Given the description of an element on the screen output the (x, y) to click on. 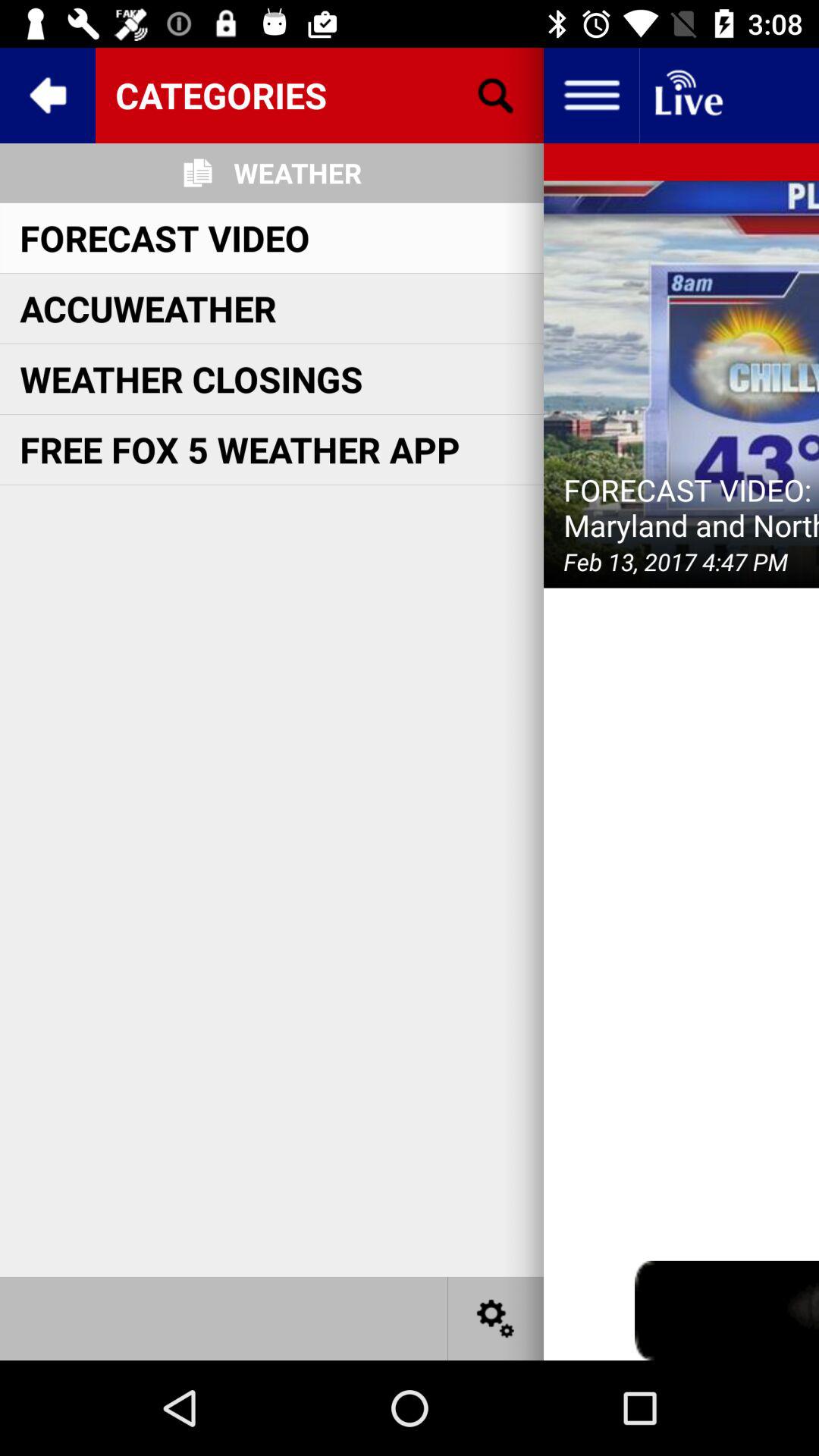
swipe to forecast video item (164, 237)
